Given the description of an element on the screen output the (x, y) to click on. 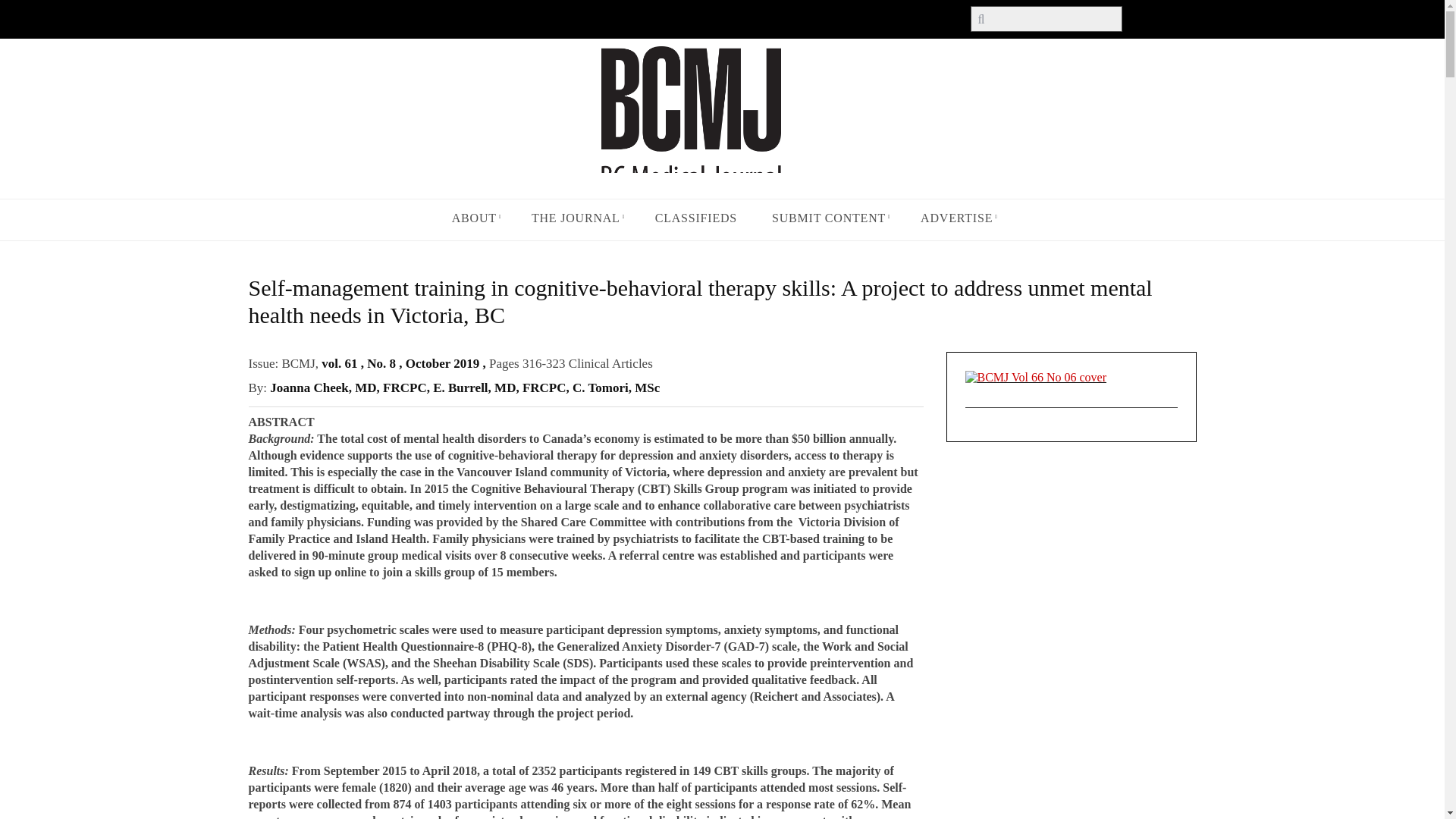
ABOUT (473, 218)
THE JOURNAL (575, 218)
Apply (30, 13)
